Given the description of an element on the screen output the (x, y) to click on. 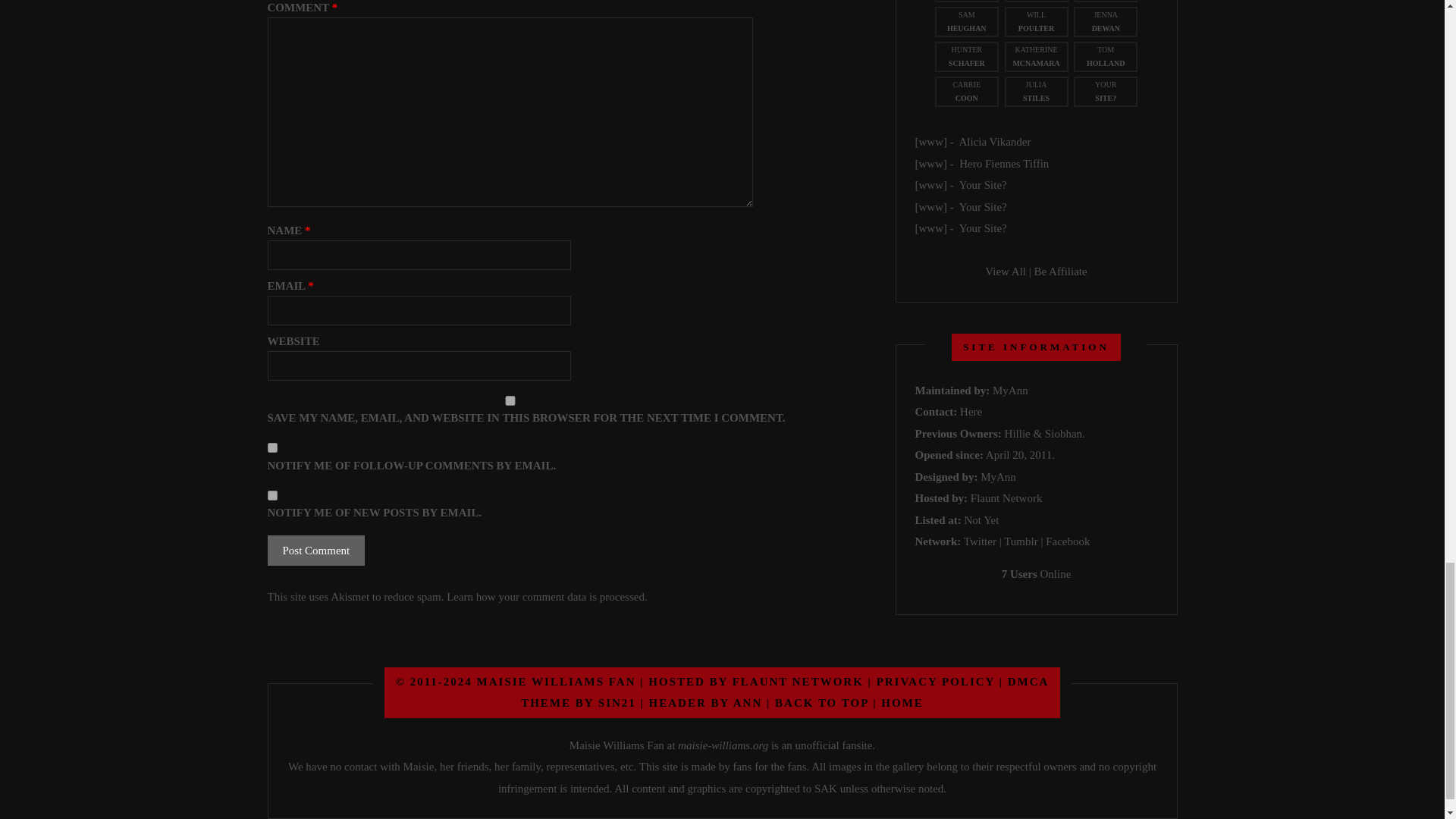
subscribe (271, 447)
Post Comment (315, 550)
subscribe (271, 495)
Post Comment (315, 550)
yes (509, 400)
Learn how your comment data is processed (545, 596)
